Given the description of an element on the screen output the (x, y) to click on. 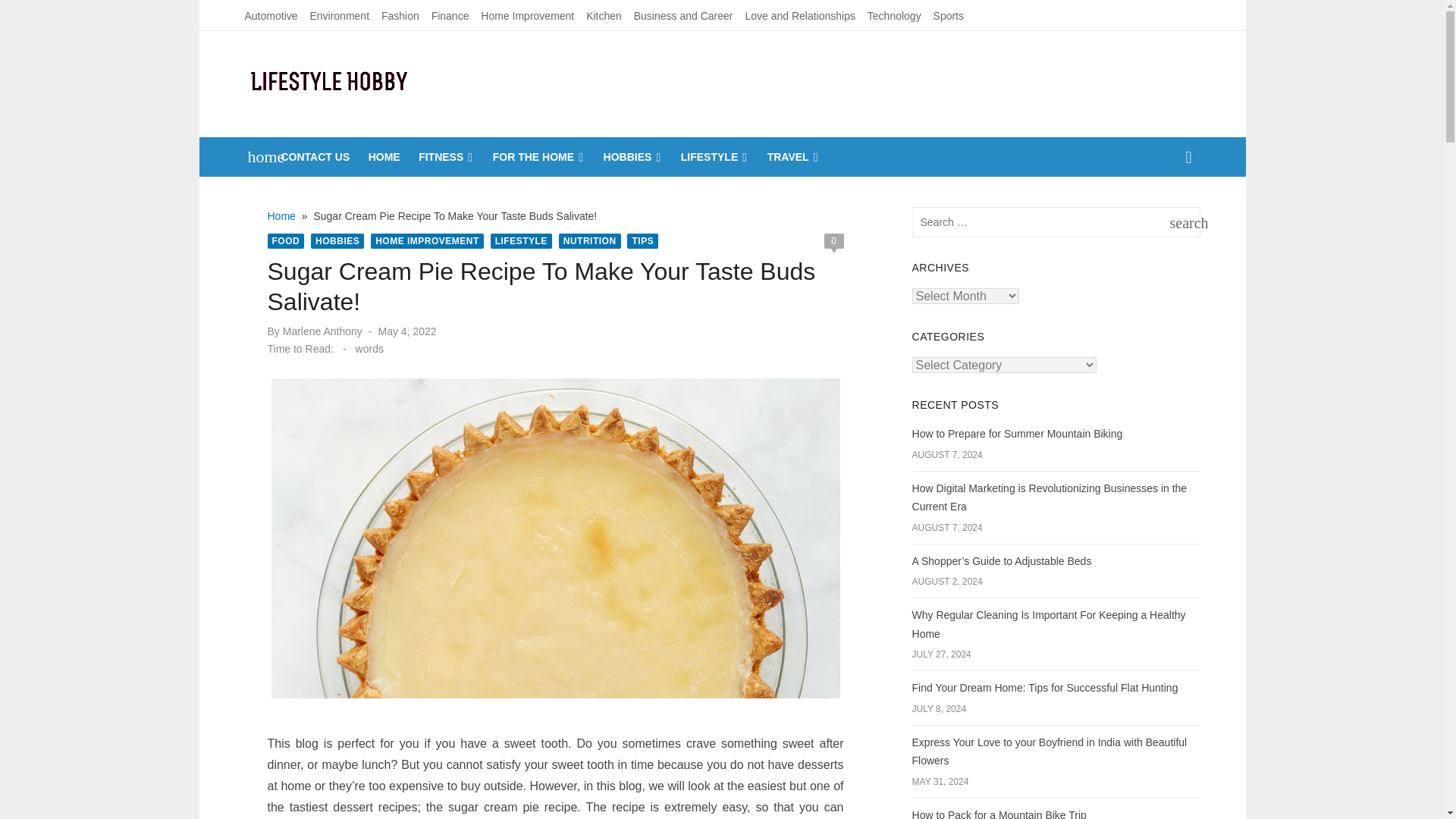
Kitchen (603, 15)
FOR THE HOME (538, 157)
Fashion (400, 15)
Business and Career (683, 15)
home (258, 156)
FITNESS (445, 157)
CONTACT US (315, 157)
Automotive (270, 15)
Home Improvement (526, 15)
HOME (384, 157)
